Given the description of an element on the screen output the (x, y) to click on. 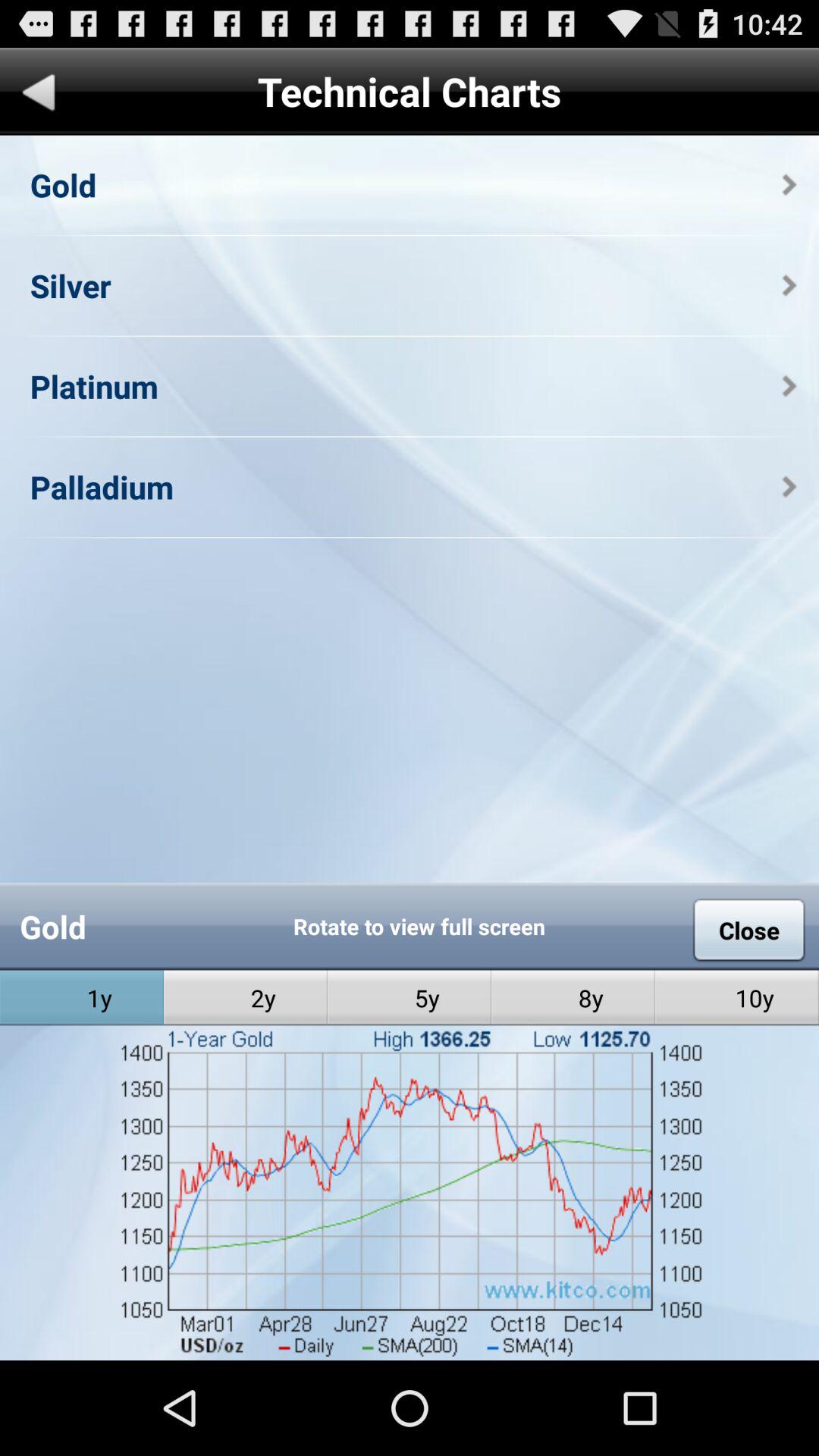
view the date option (409, 1310)
